Given the description of an element on the screen output the (x, y) to click on. 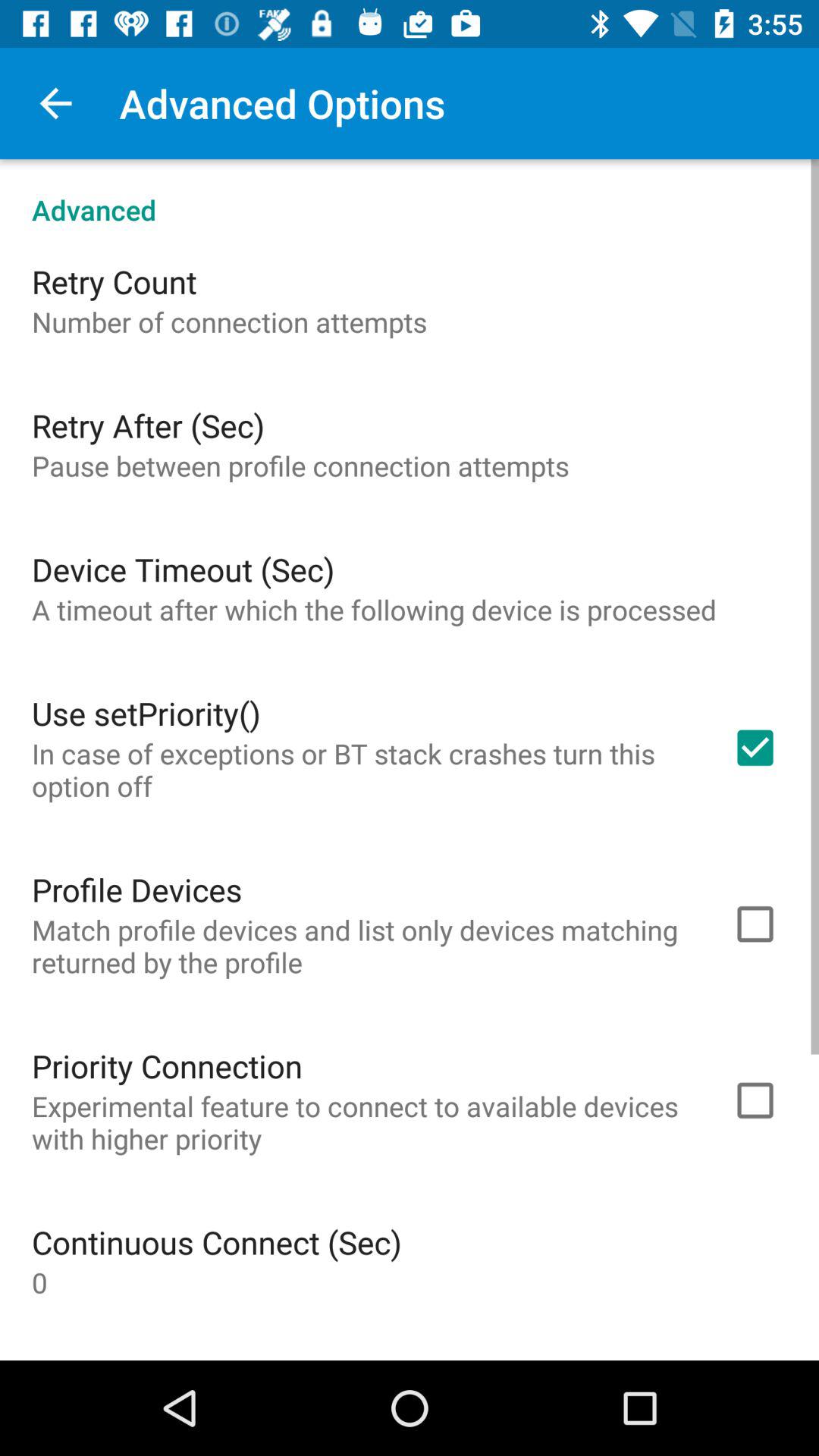
press the priority connection item (166, 1065)
